Given the description of an element on the screen output the (x, y) to click on. 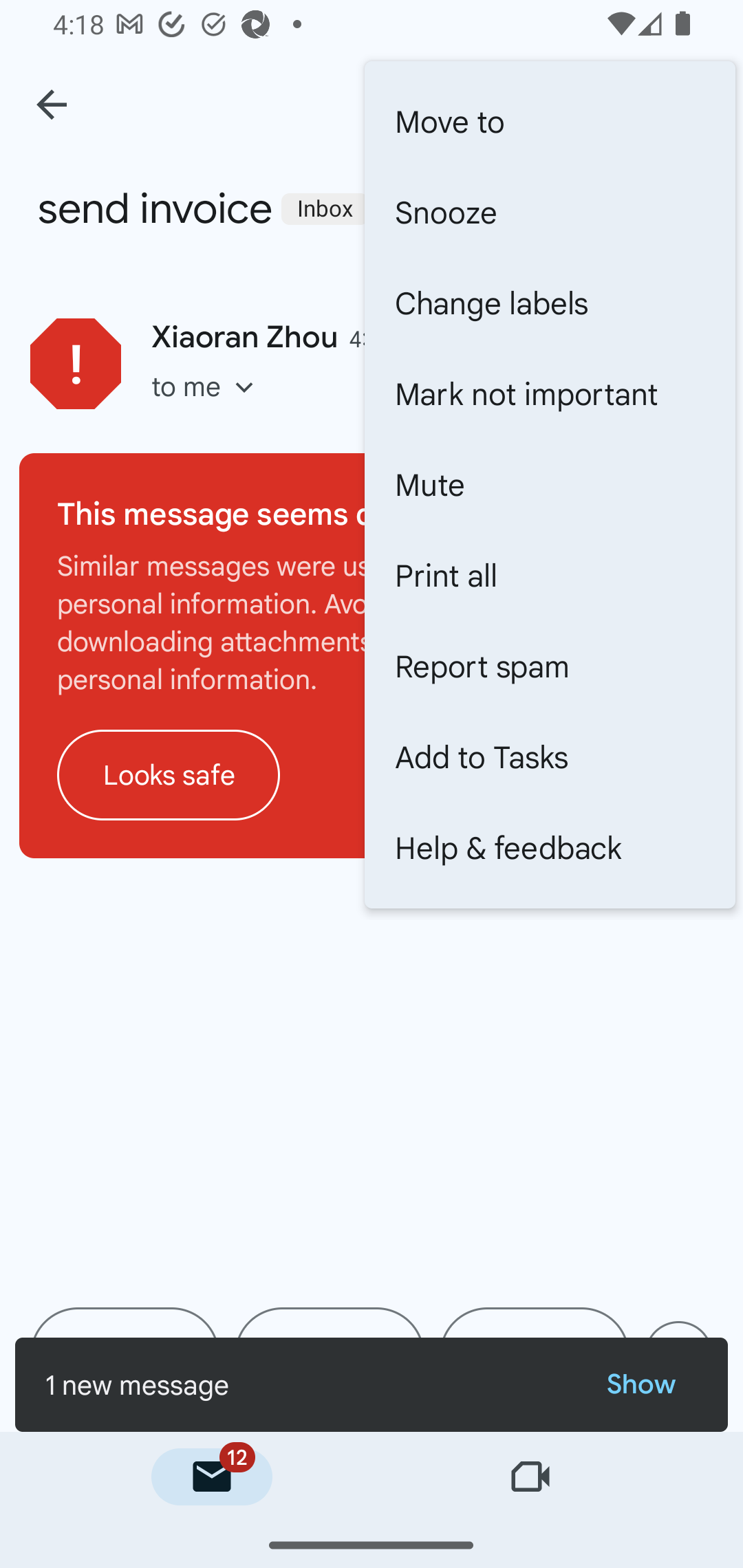
Move to (549, 121)
Snooze (549, 212)
Change labels (549, 302)
Mark not important (549, 393)
Mute (549, 484)
Print all (549, 574)
Report spam (549, 665)
Add to Tasks (549, 756)
Help & feedback (549, 847)
